Given the description of an element on the screen output the (x, y) to click on. 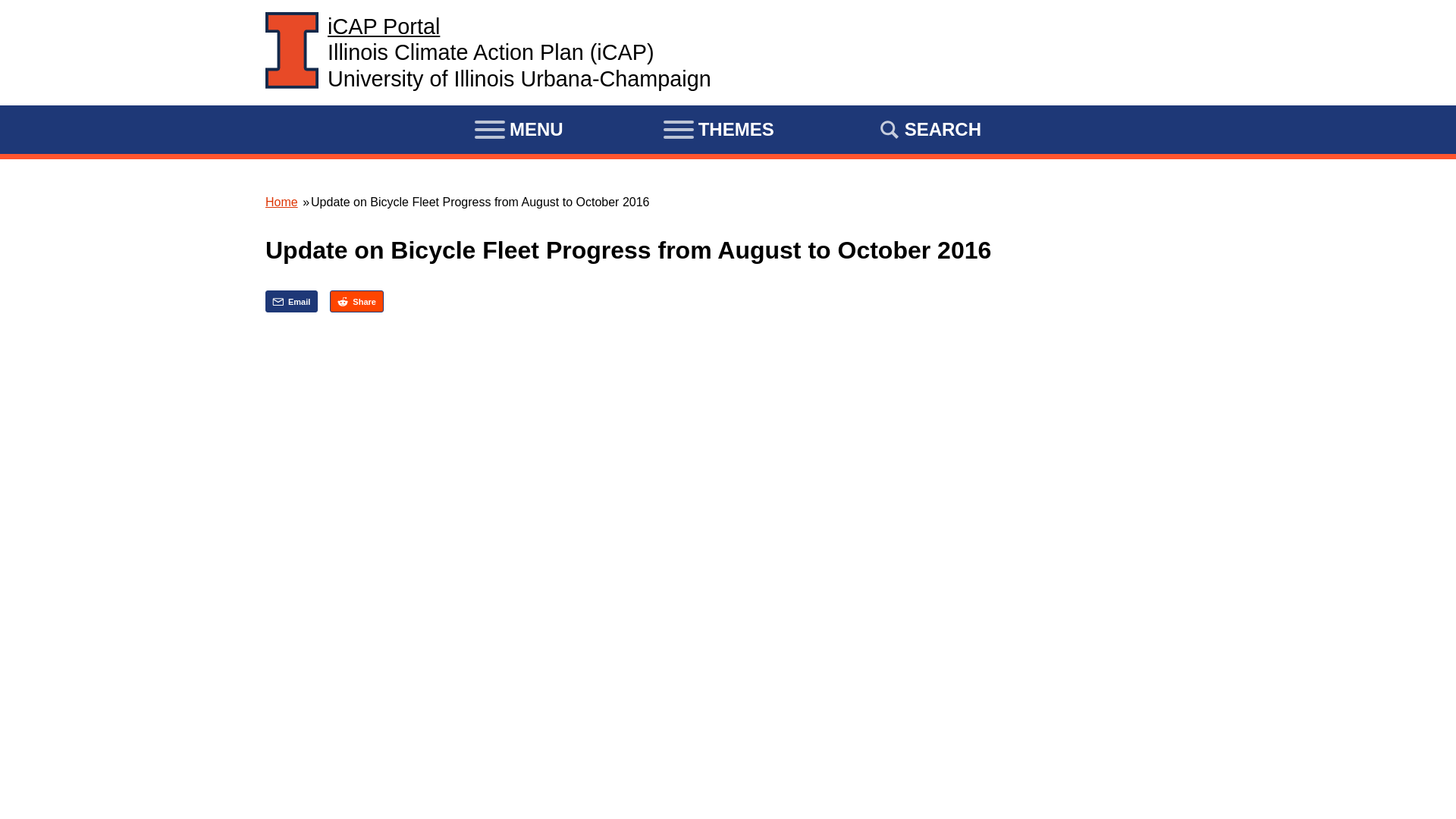
Email (290, 301)
Share (357, 301)
Home (281, 201)
iCAP Portal (383, 26)
Home (383, 26)
